Given the description of an element on the screen output the (x, y) to click on. 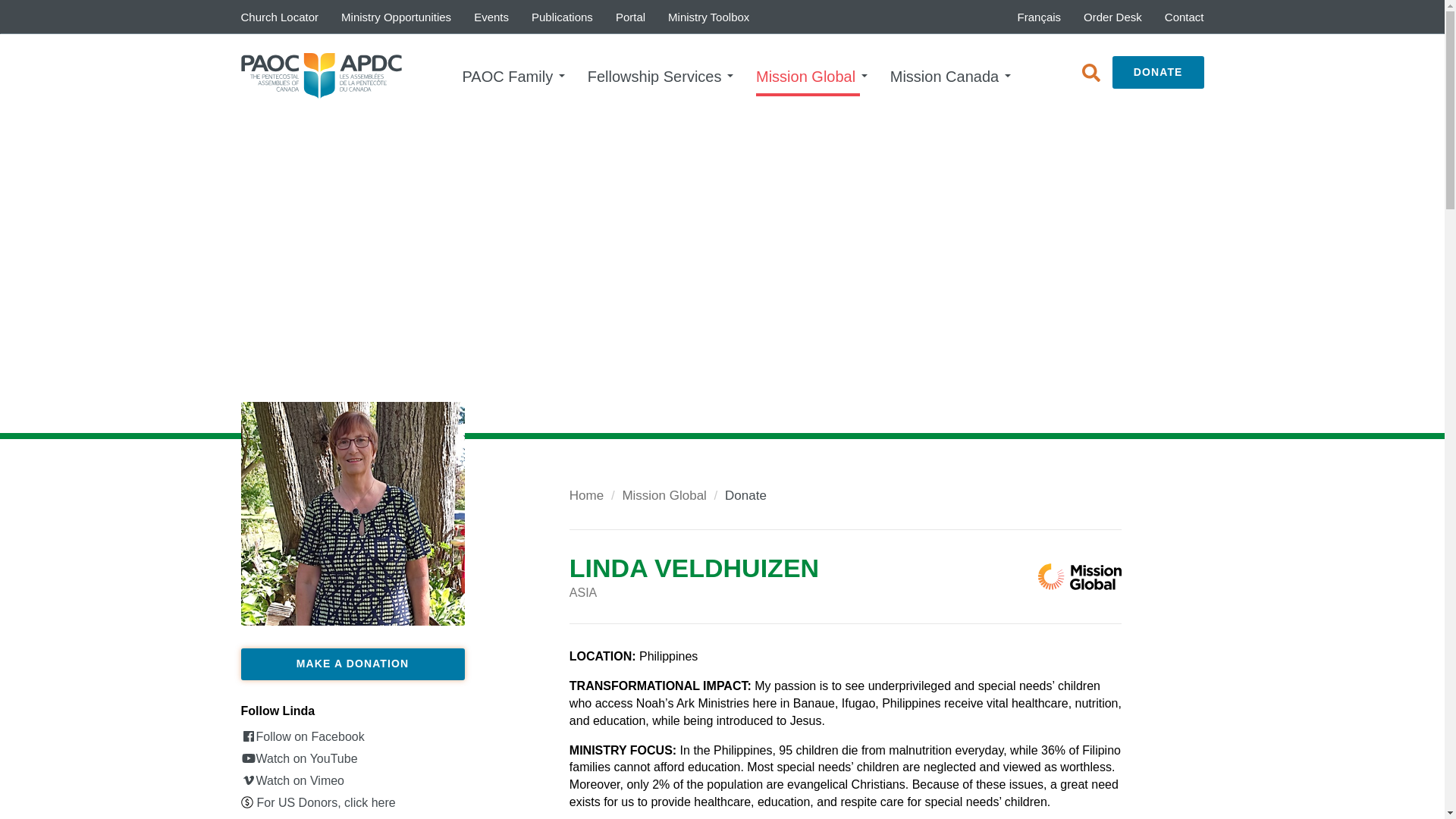
Events (491, 16)
Church Locator (279, 16)
The Pentecostal Assemblies of Canada (321, 76)
Mission Canada (950, 76)
Ministry Toolbox (708, 16)
Publications (561, 16)
MAKE A DONATION (352, 664)
DONATE (1158, 72)
Fellowship Services (660, 76)
open search box (1091, 71)
Order Desk (1112, 16)
Ministry Opportunities (396, 16)
Portal (630, 16)
PAOC Family (513, 76)
Contact (1184, 16)
